Given the description of an element on the screen output the (x, y) to click on. 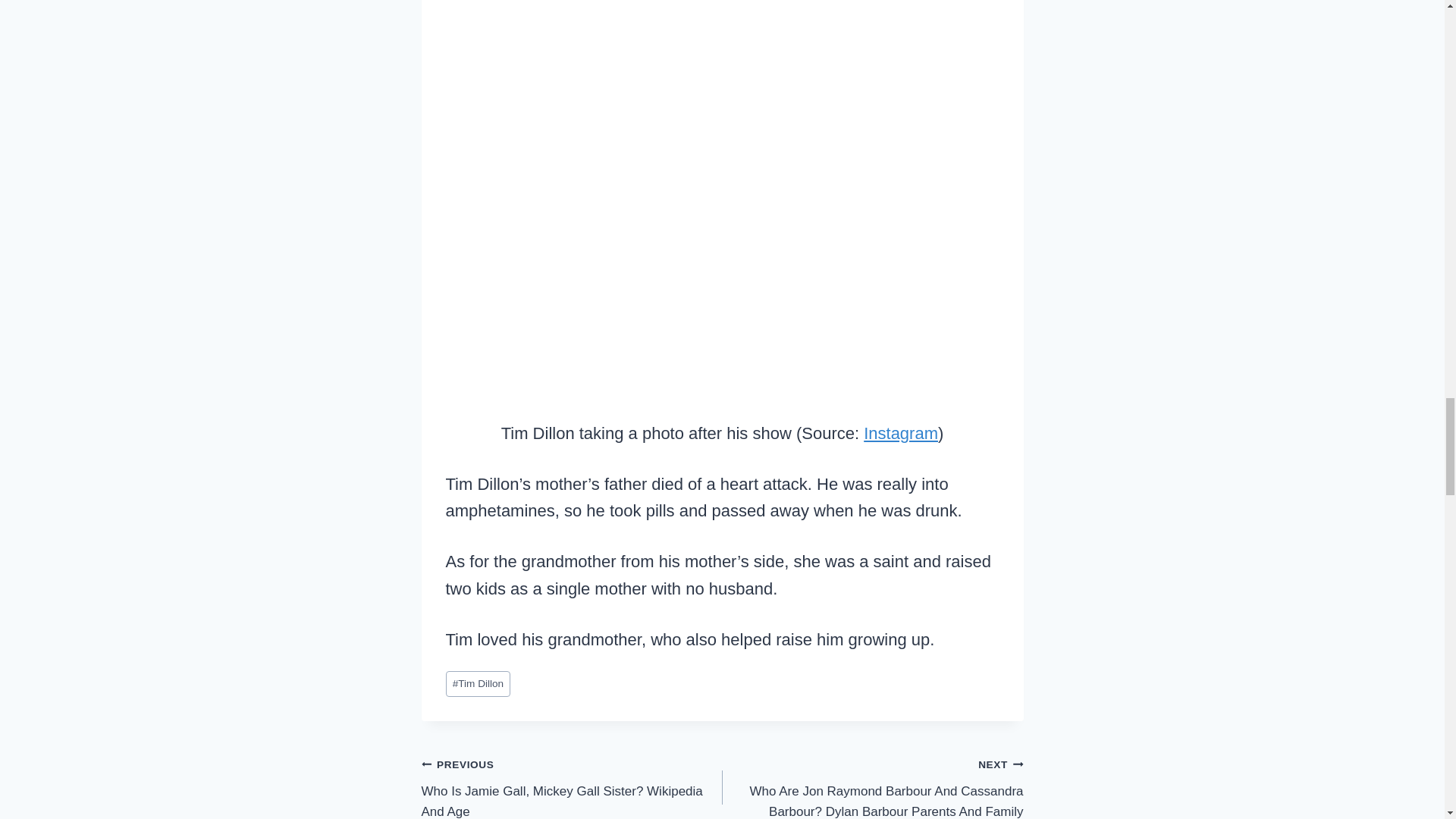
Instagram (900, 433)
Tim Dillon (478, 683)
